Given the description of an element on the screen output the (x, y) to click on. 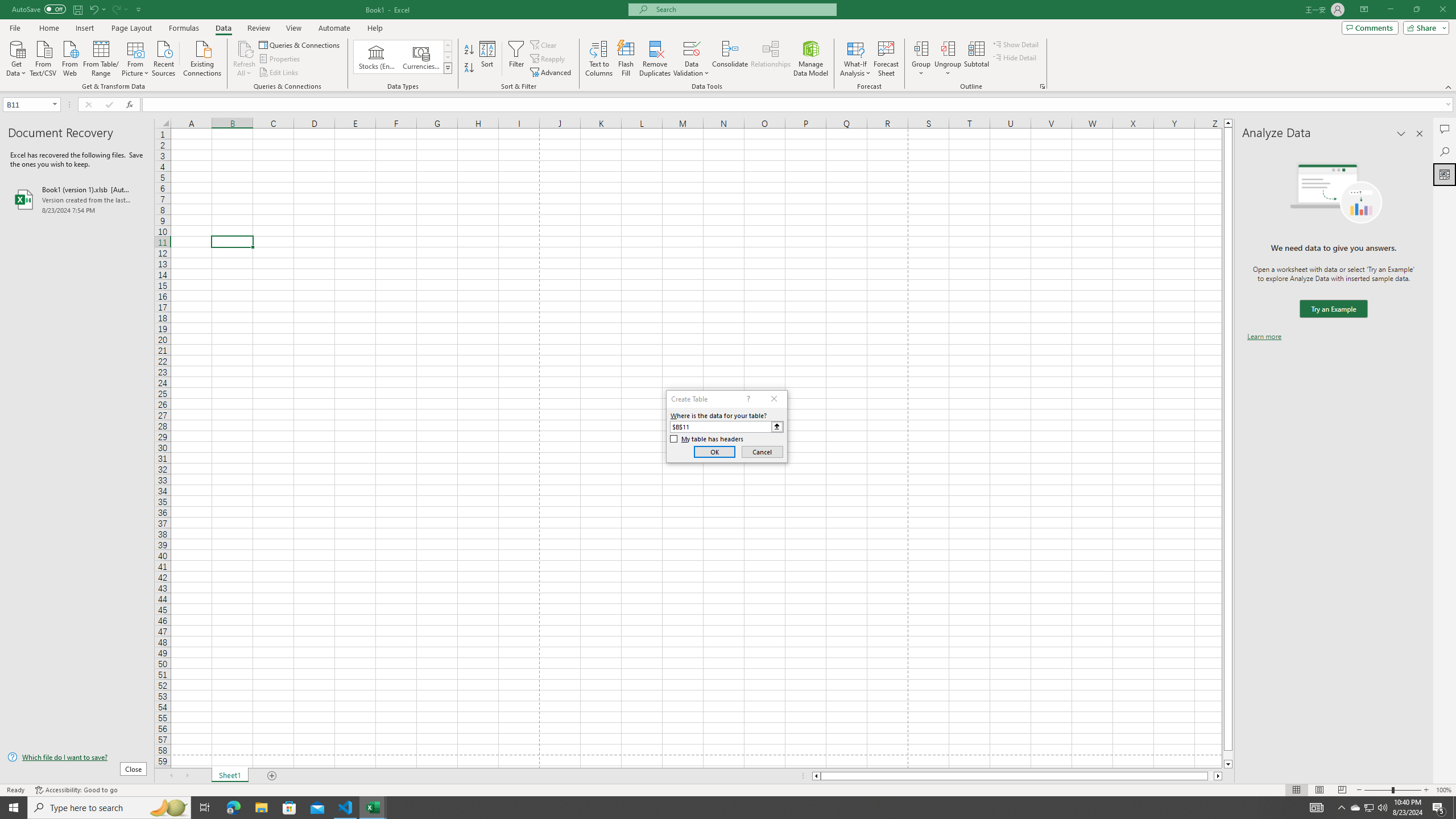
Row Down (448, 56)
Formula Bar (799, 104)
